Given the description of an element on the screen output the (x, y) to click on. 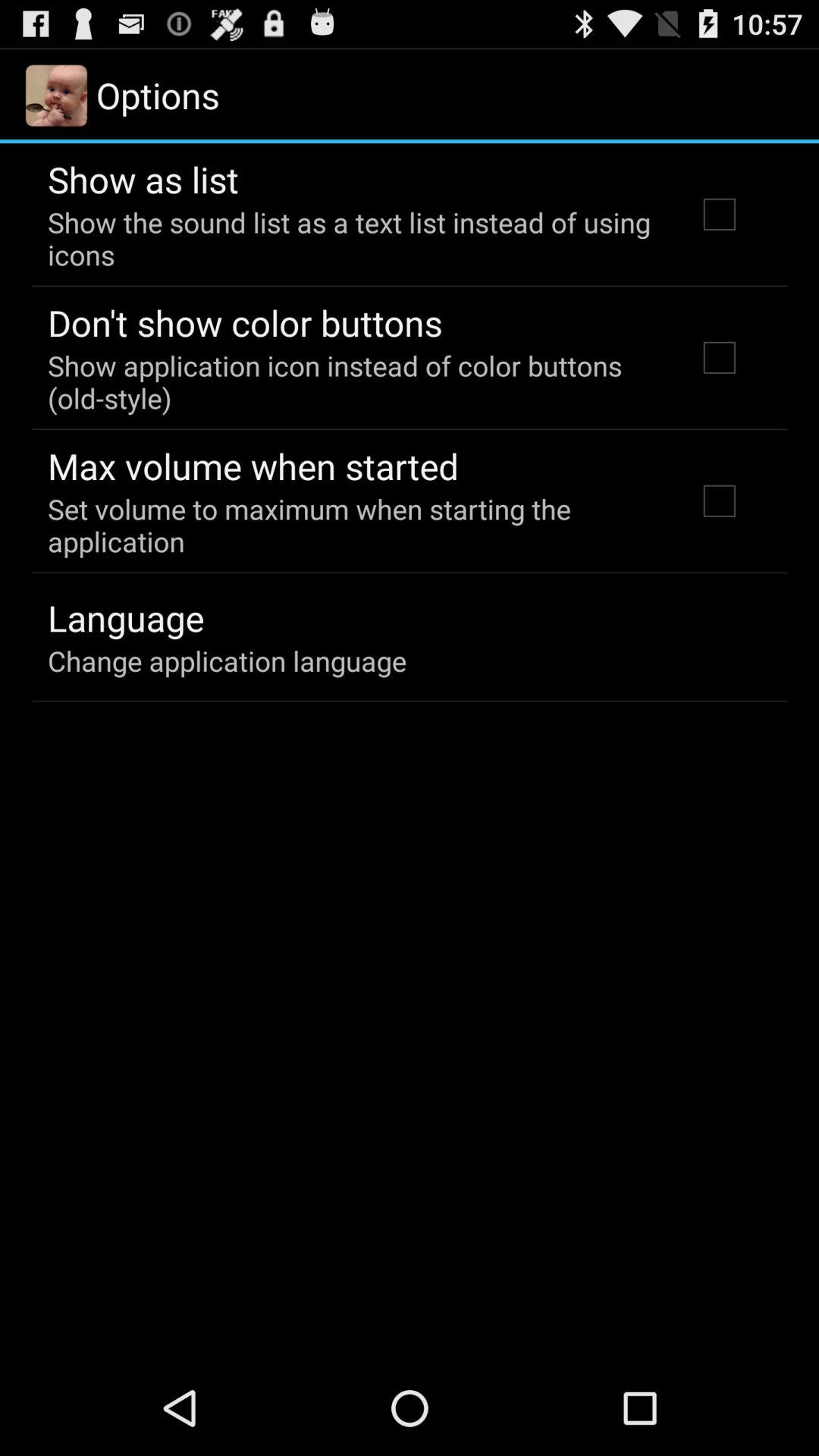
flip until the change application language (226, 660)
